Given the description of an element on the screen output the (x, y) to click on. 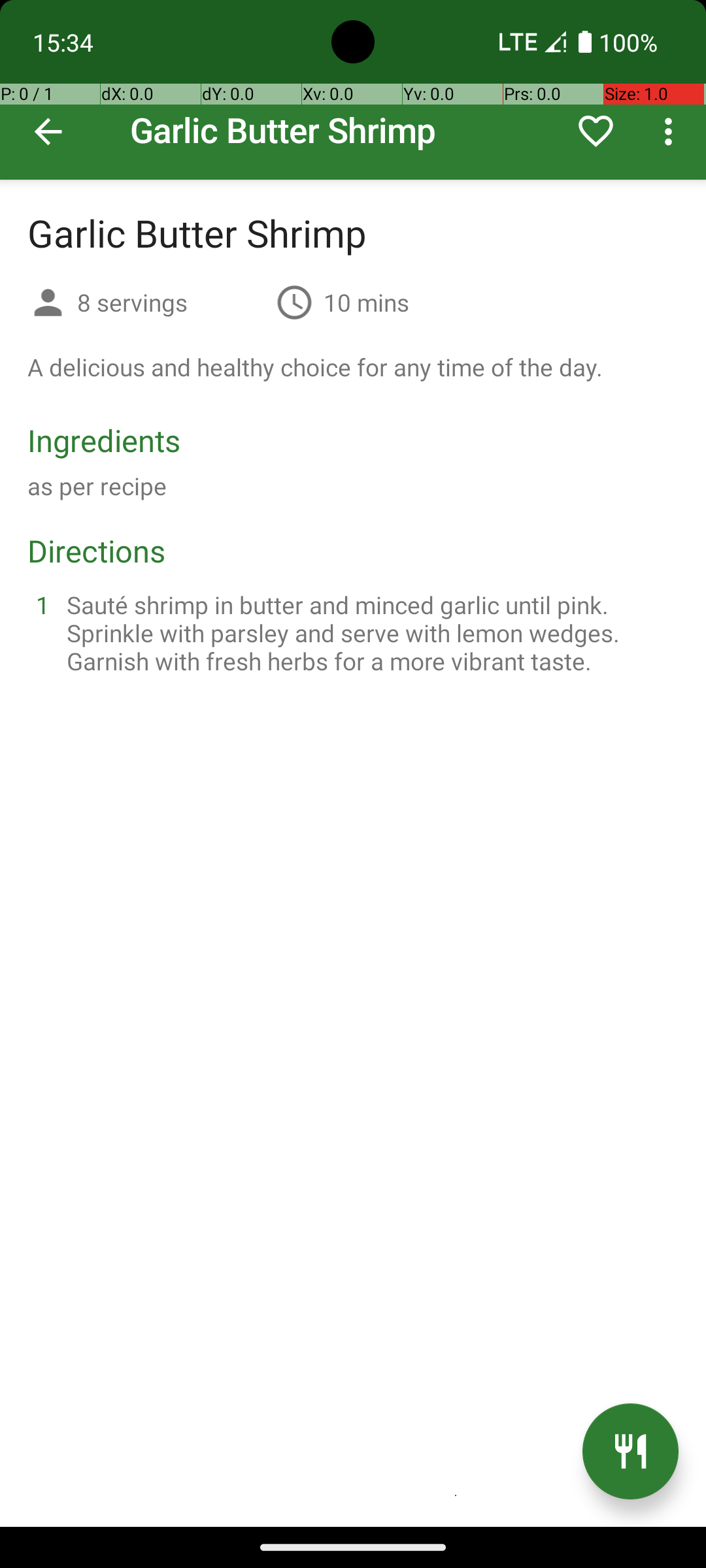
Sauté shrimp in butter and minced garlic until pink. Sprinkle with parsley and serve with lemon wedges. Garnish with fresh herbs for a more vibrant taste. Element type: android.widget.TextView (368, 632)
